Given the description of an element on the screen output the (x, y) to click on. 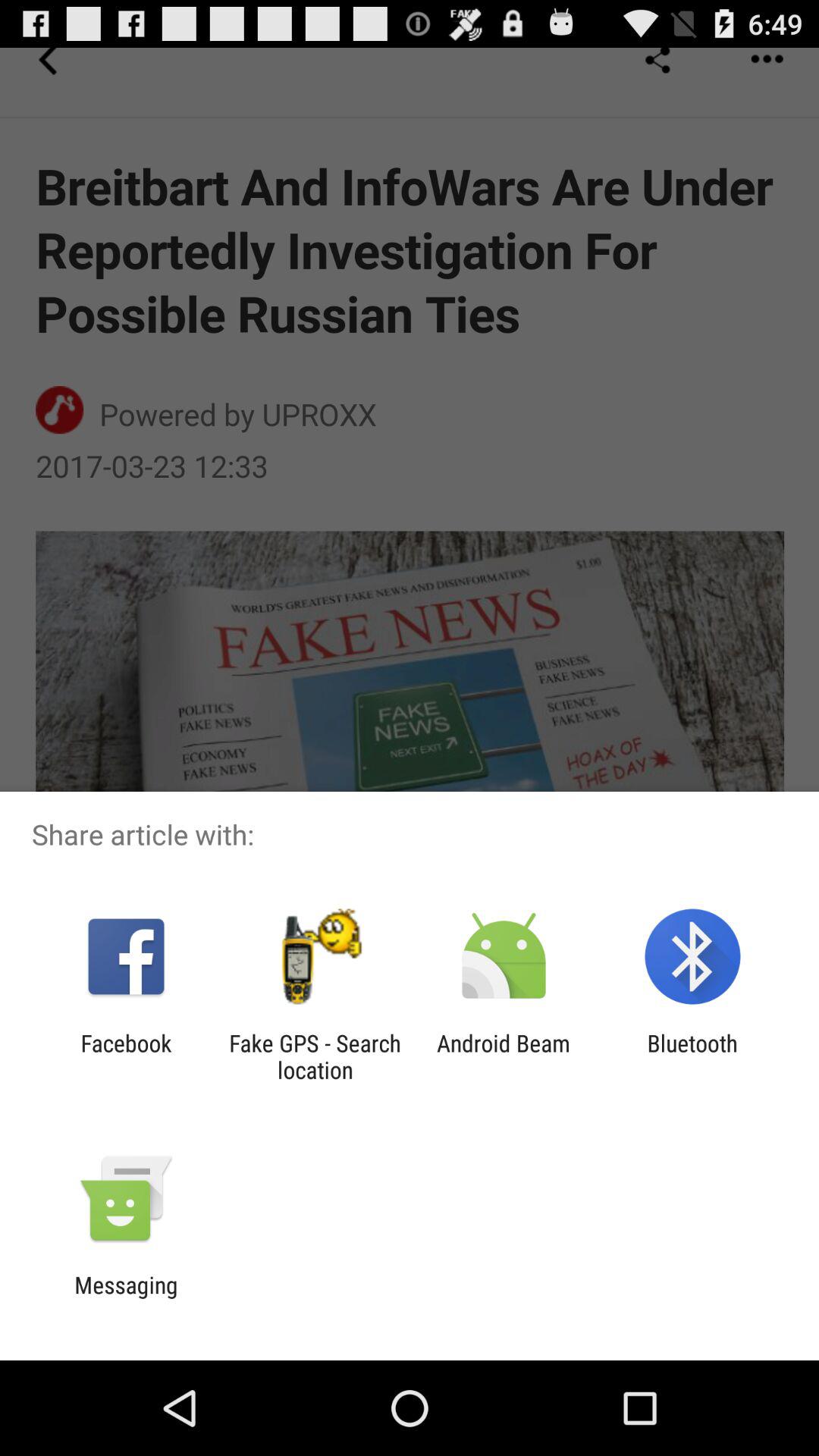
flip until the bluetooth icon (692, 1056)
